Given the description of an element on the screen output the (x, y) to click on. 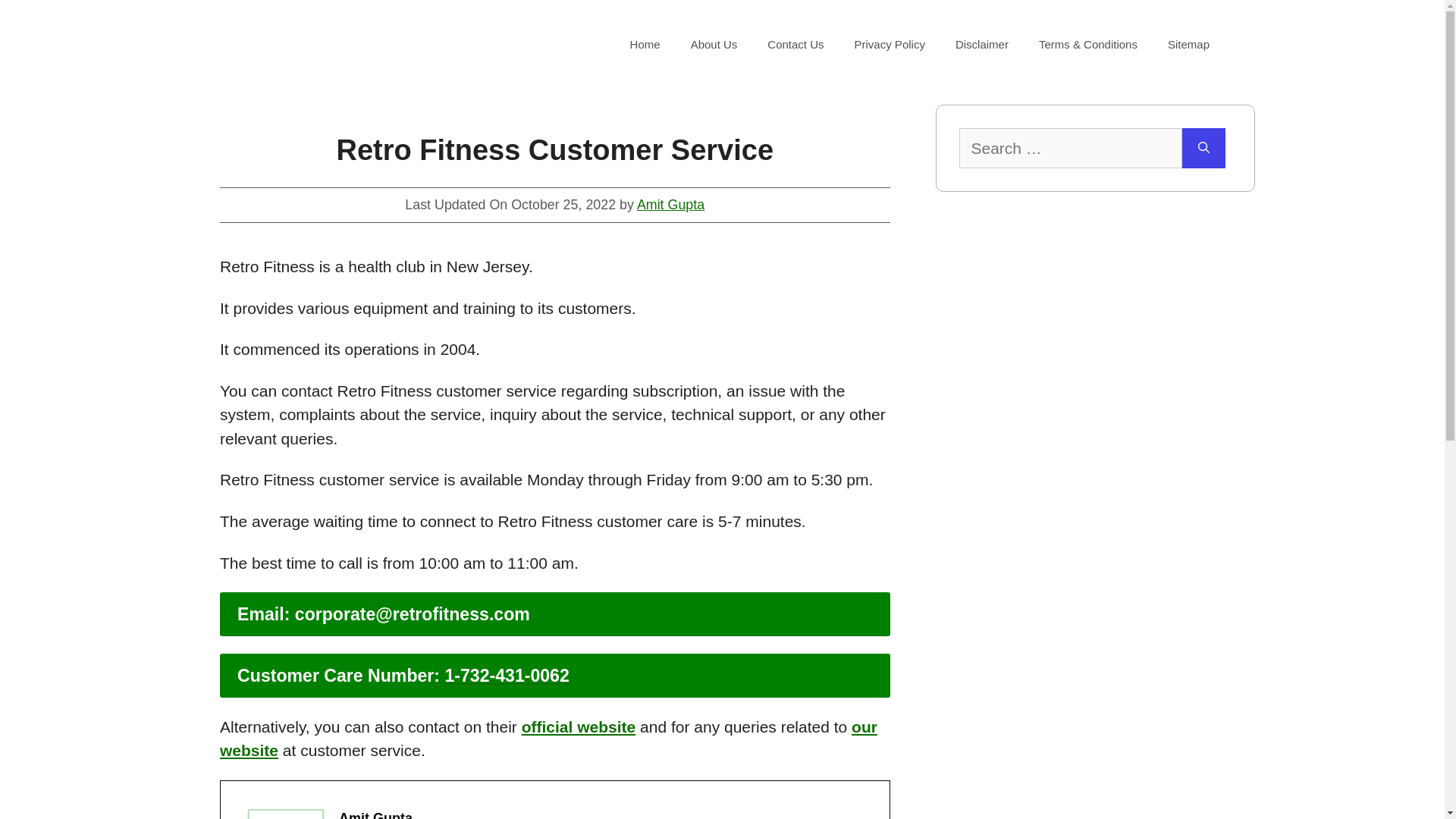
Home (644, 44)
Amit Gupta (670, 204)
Search for: (1069, 147)
Amit Gupta (375, 814)
Privacy Policy (890, 44)
Disclaimer (981, 44)
About Us (713, 44)
Sitemap (1188, 44)
UCustomerCare (322, 44)
our website (548, 739)
